Given the description of an element on the screen output the (x, y) to click on. 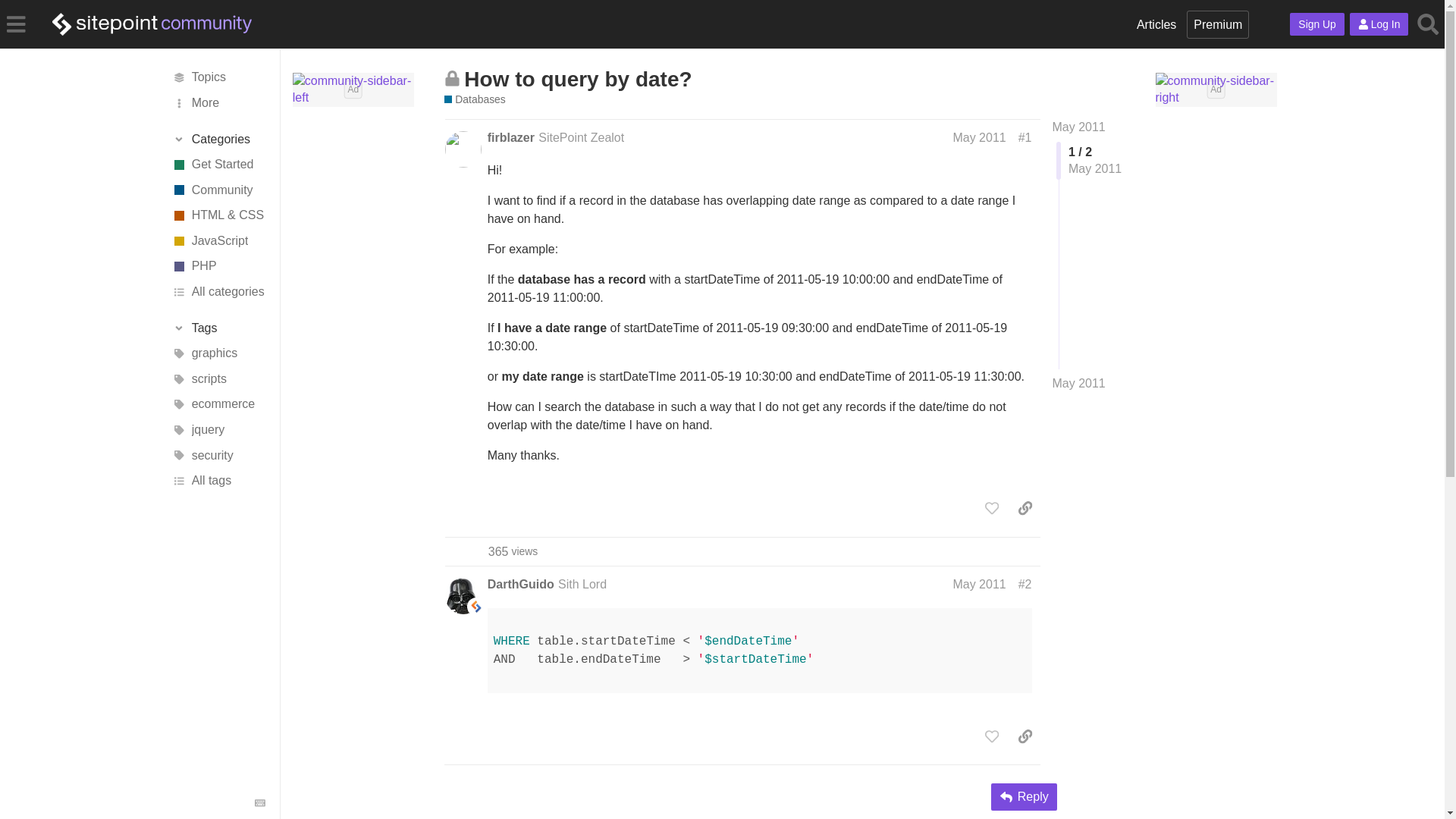
Get Started (217, 164)
Categories (217, 139)
JavaScript (217, 240)
Log In (1379, 24)
All topics (217, 77)
Articles (1156, 24)
Topics (217, 77)
Sidebar (16, 23)
All categories (217, 291)
May 2011 (1078, 383)
